Given the description of an element on the screen output the (x, y) to click on. 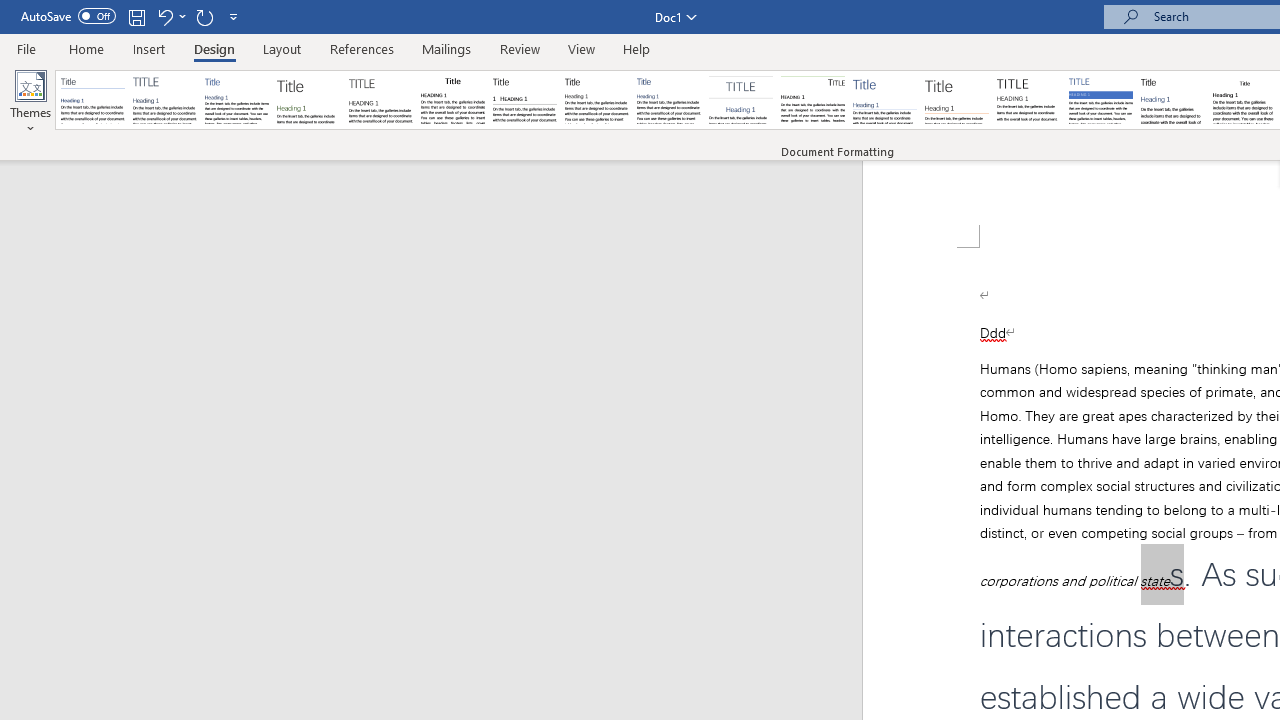
Lines (Distinctive) (812, 100)
Casual (669, 100)
Centered (740, 100)
Word (1172, 100)
Black & White (Classic) (452, 100)
Black & White (Word 2013) (596, 100)
